Given the description of an element on the screen output the (x, y) to click on. 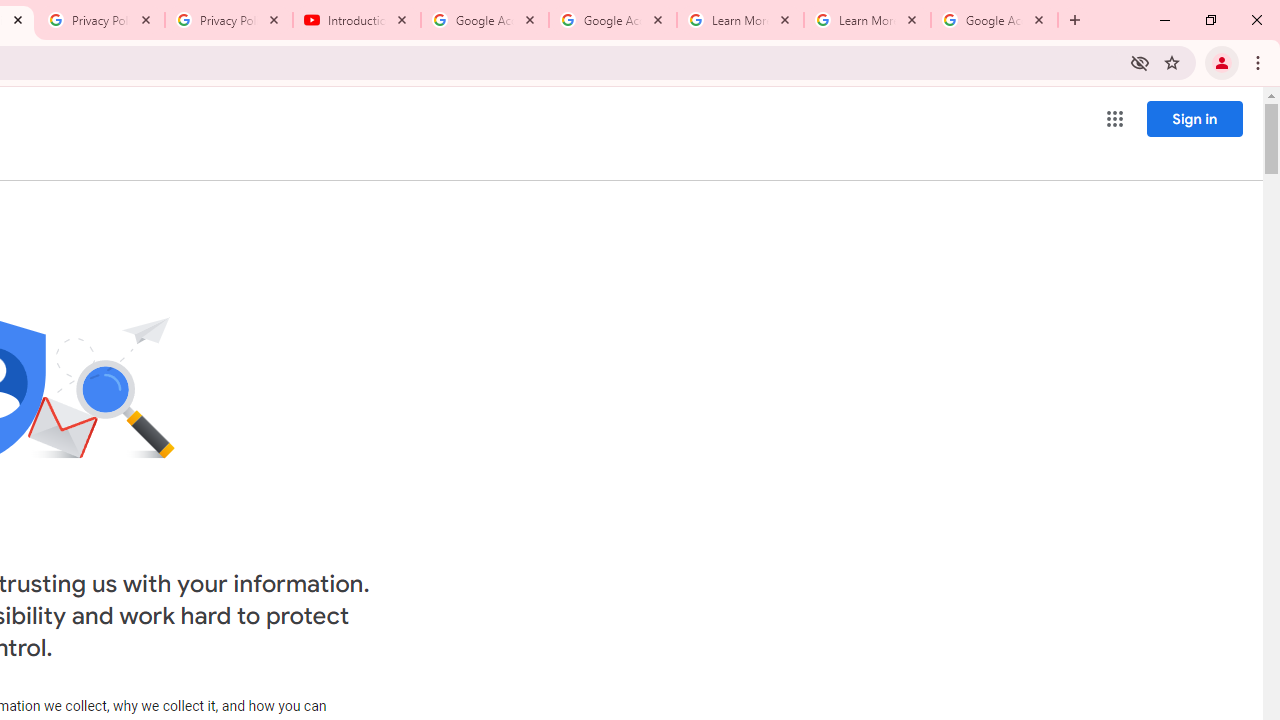
Google Account (994, 20)
Introduction | Google Privacy Policy - YouTube (357, 20)
